Given the description of an element on the screen output the (x, y) to click on. 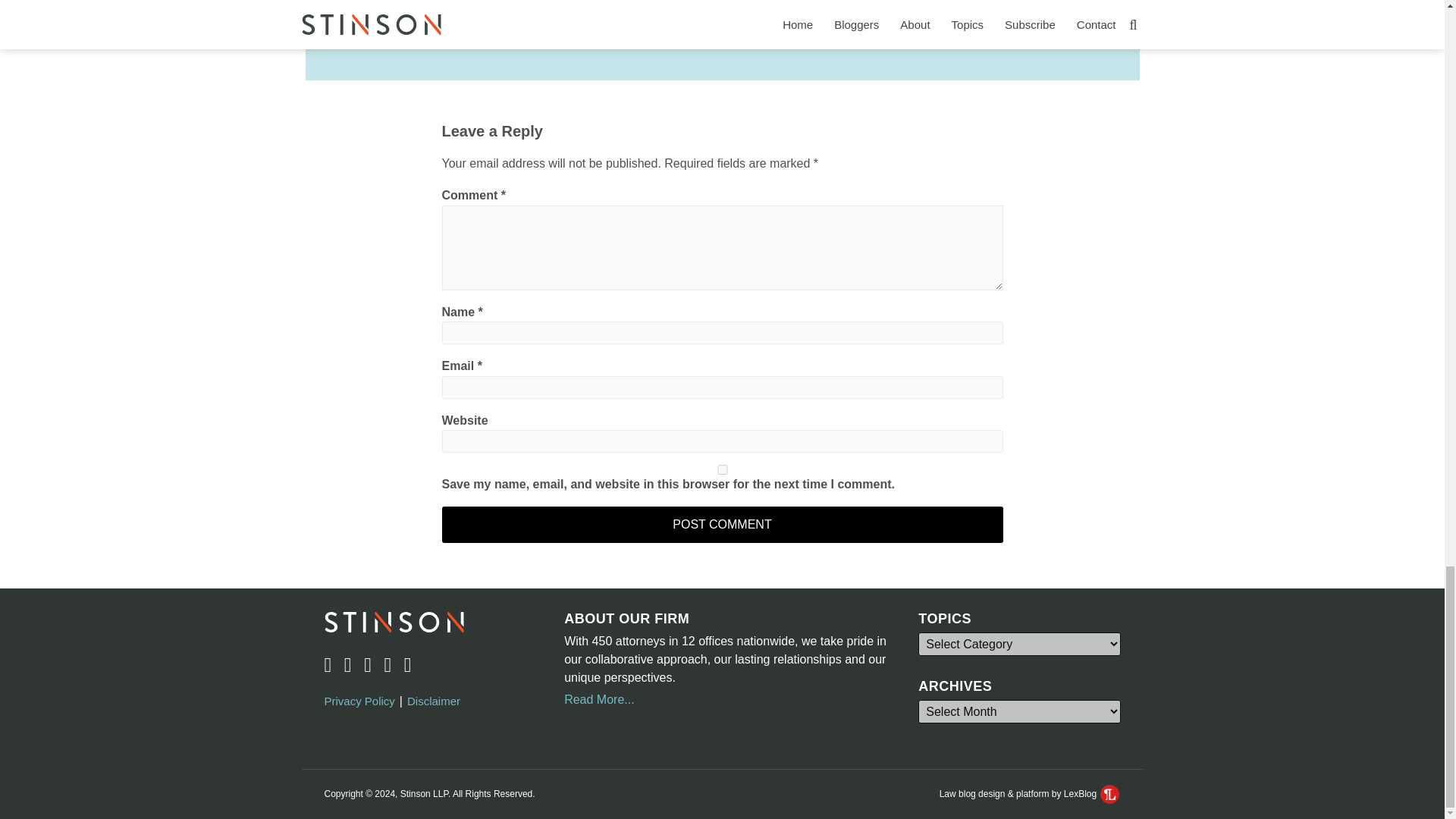
Post Comment (722, 524)
Subscribe (554, 4)
Read more (873, 25)
yes (722, 470)
LexBlog Logo (1109, 793)
Subscribe (554, 4)
Post Comment (722, 524)
